Given the description of an element on the screen output the (x, y) to click on. 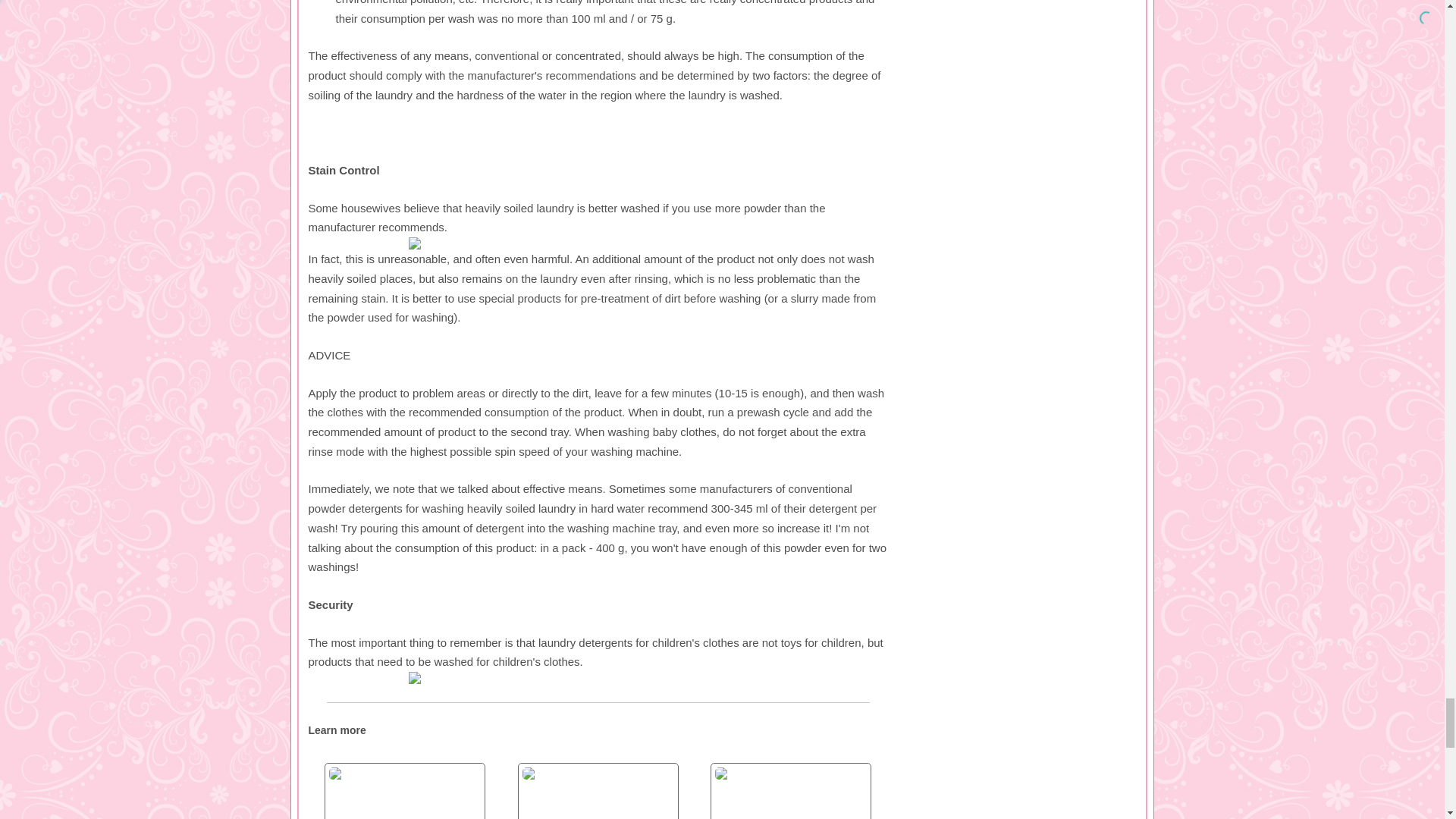
Food for baby budgies (598, 793)
What age to start feeding baby food (790, 793)
What age to start feeding baby food (790, 793)
Food for baby budgies (598, 793)
When do breastfed babies go longer between feedings (404, 793)
When do breastfed babies go longer between feedings (404, 793)
